Given the description of an element on the screen output the (x, y) to click on. 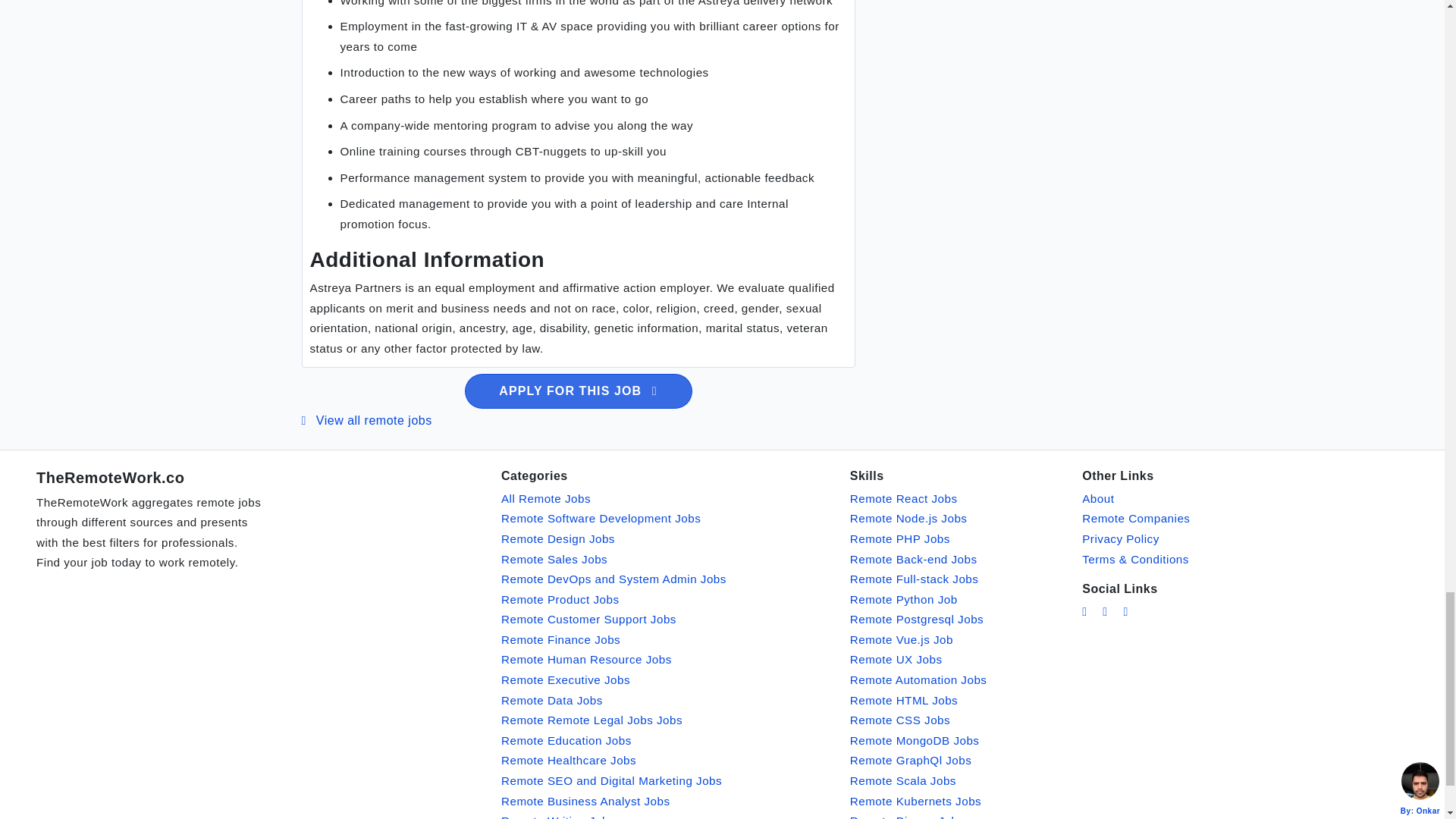
All Remote Jobs (545, 498)
View all remote jobs (366, 420)
Remote Design Jobs (557, 538)
Click to apply for the remote job (577, 390)
Remote Software Development Jobs (600, 517)
Remote Product Jobs (560, 599)
APPLY FOR THIS JOB (577, 390)
Remote Sales Jobs (553, 558)
Remote DevOps and System Admin Jobs (613, 578)
